Given the description of an element on the screen output the (x, y) to click on. 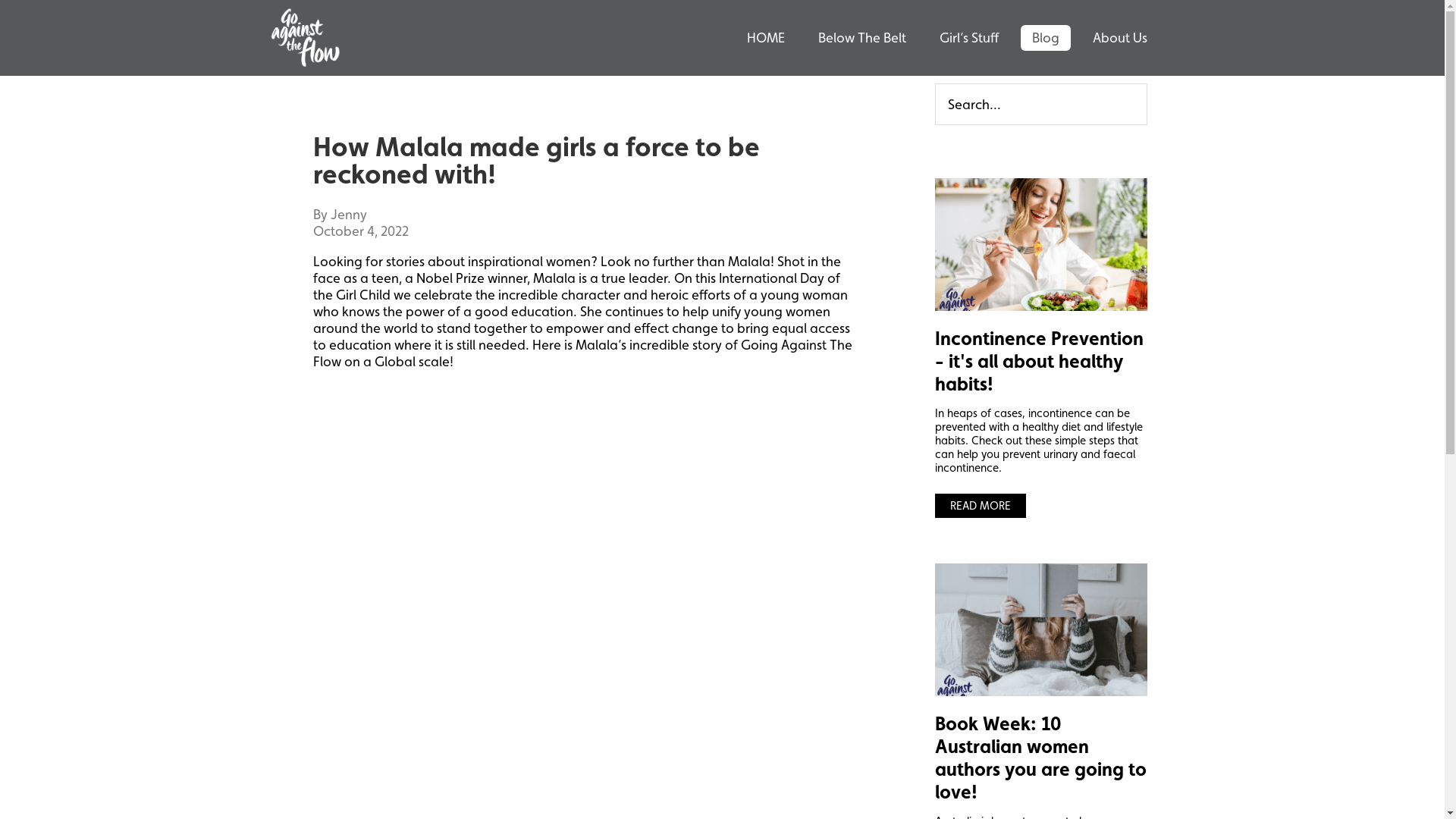
How Malala made girls a force to be reckoned with! Element type: text (535, 159)
Go Against the Flow Element type: text (304, 37)
HOME Element type: text (765, 37)
About Us Element type: text (1119, 37)
Below The Belt Element type: text (861, 37)
Blog Element type: text (1045, 37)
